Given the description of an element on the screen output the (x, y) to click on. 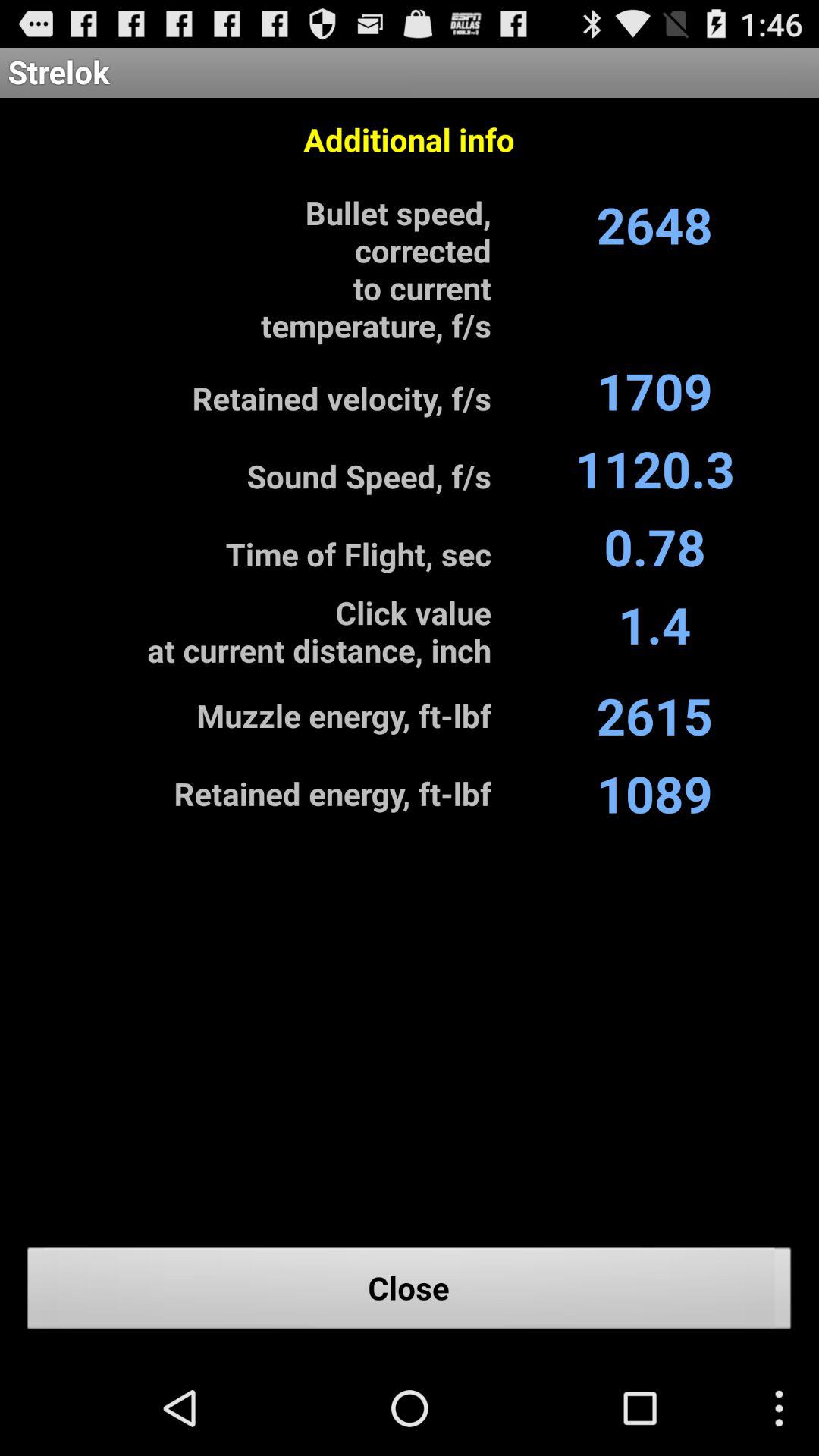
click item at the bottom (409, 1292)
